Given the description of an element on the screen output the (x, y) to click on. 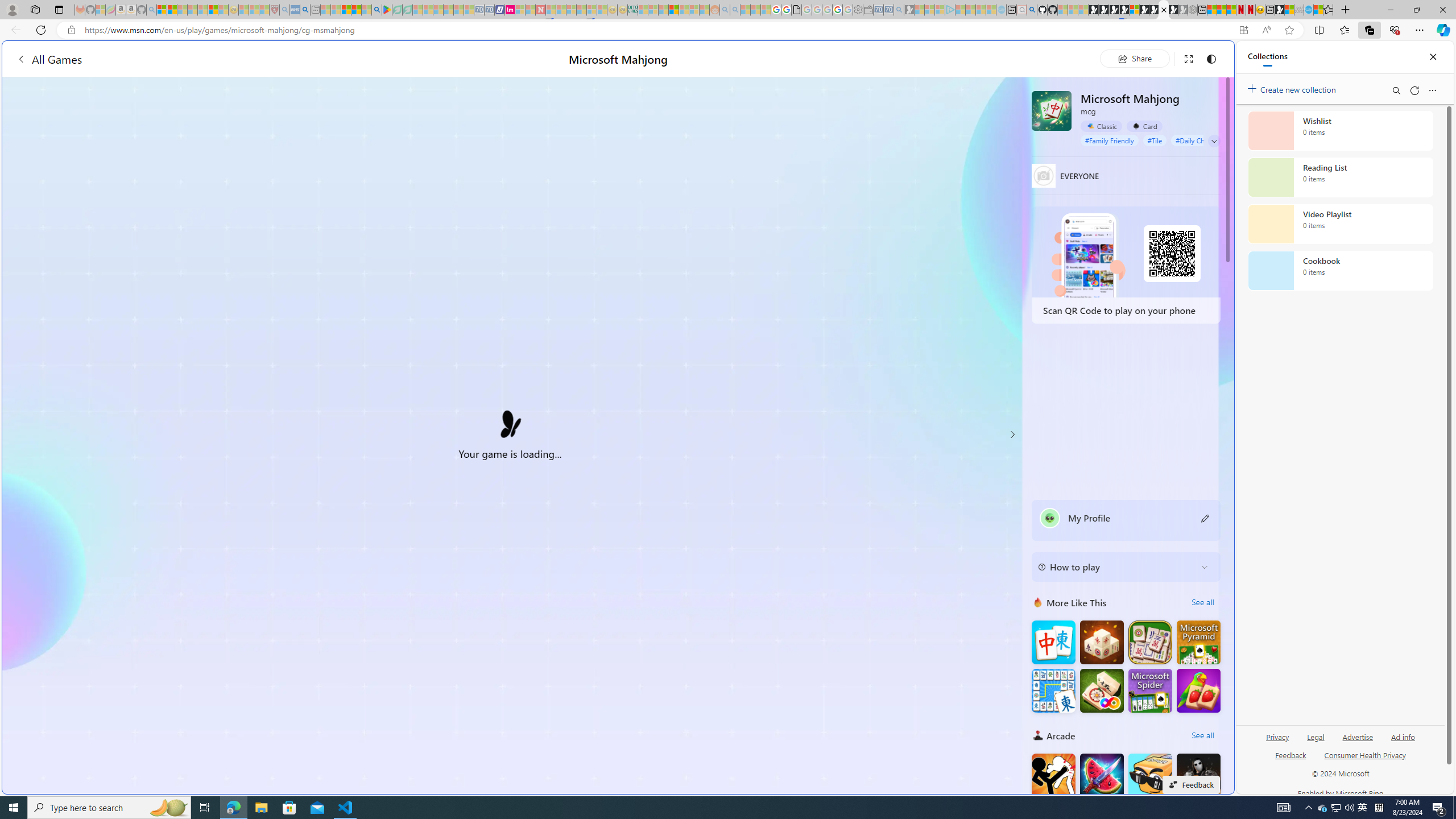
Daily Mahjong (1149, 642)
Mahjong Connect Deluxe (1053, 690)
utah sues federal government - Search (304, 9)
github - Search (1032, 9)
